Given the description of an element on the screen output the (x, y) to click on. 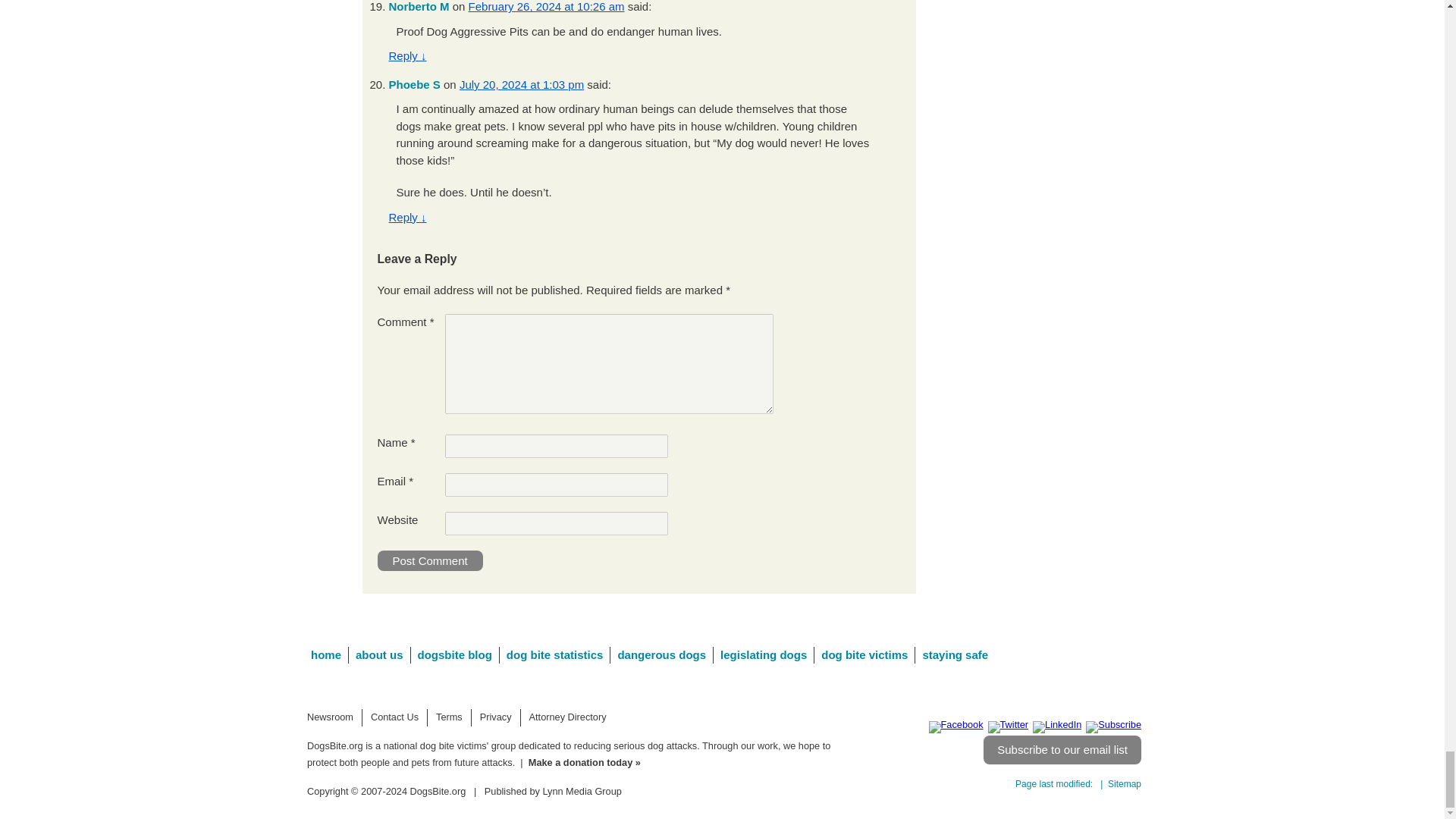
Post Comment (430, 560)
